Given the description of an element on the screen output the (x, y) to click on. 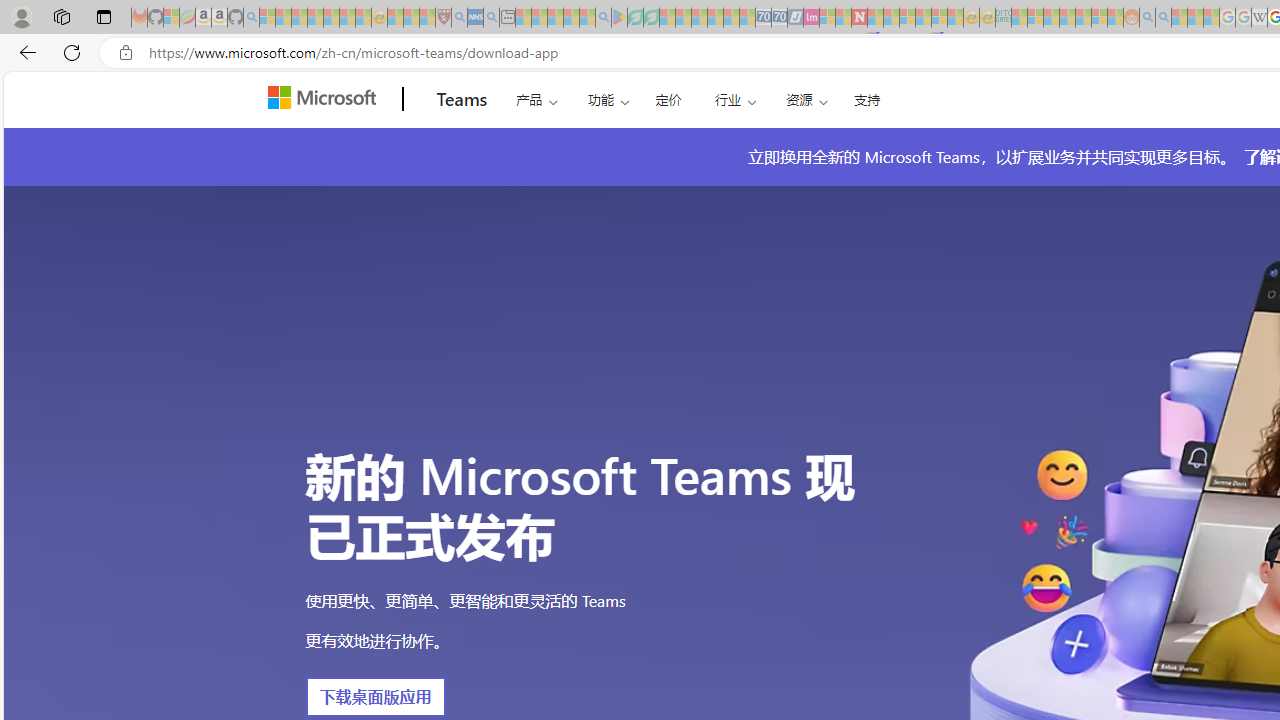
Local - MSN - Sleeping (427, 17)
Latest Politics News & Archive | Newsweek.com - Sleeping (859, 17)
